Given the description of an element on the screen output the (x, y) to click on. 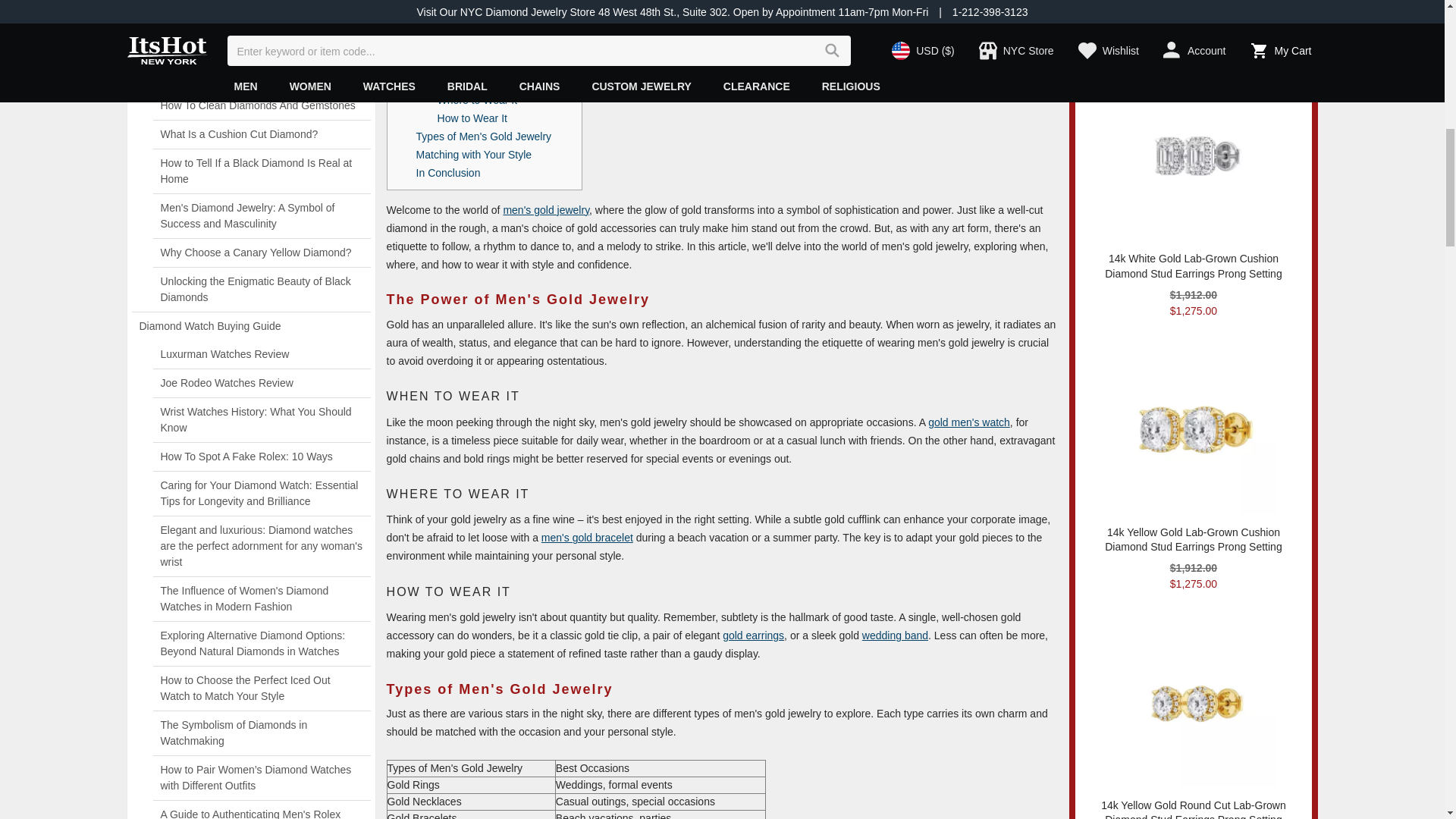
Men's Gold Jewelry Etiquette (722, 13)
